Given the description of an element on the screen output the (x, y) to click on. 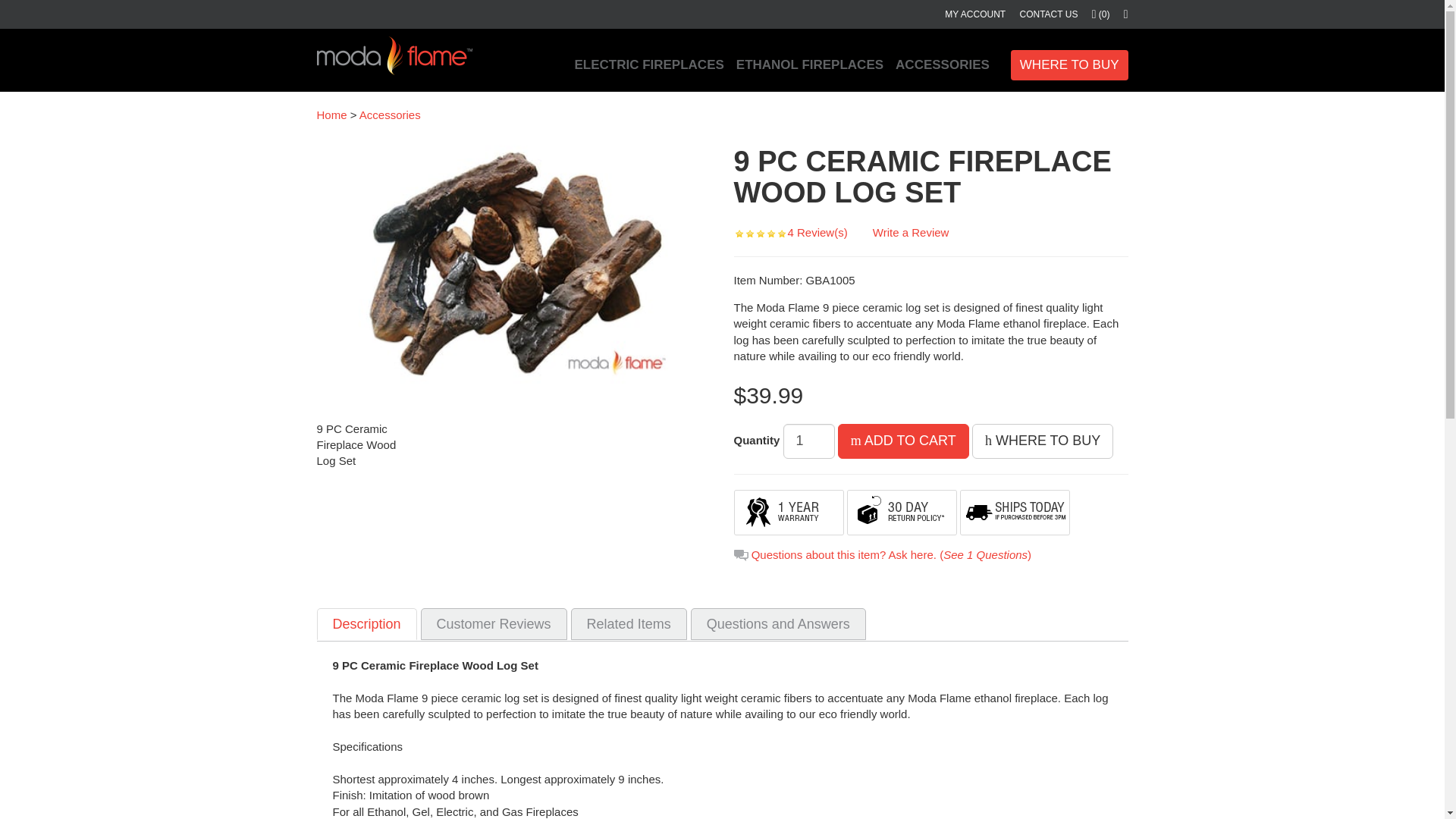
Questions about this item? Ask here. (843, 554)
WHERE TO BUY (1069, 64)
1 (808, 441)
ADD TO CART (903, 441)
MY ACCOUNT (969, 14)
Write a Review (910, 232)
ELECTRIC FIREPLACES (648, 64)
ACCESSORIES (942, 64)
Home (332, 114)
WHERE TO BUY (1042, 441)
CONTACT US (1043, 14)
ETHANOL FIREPLACES (809, 64)
Accessories (389, 114)
